Given the description of an element on the screen output the (x, y) to click on. 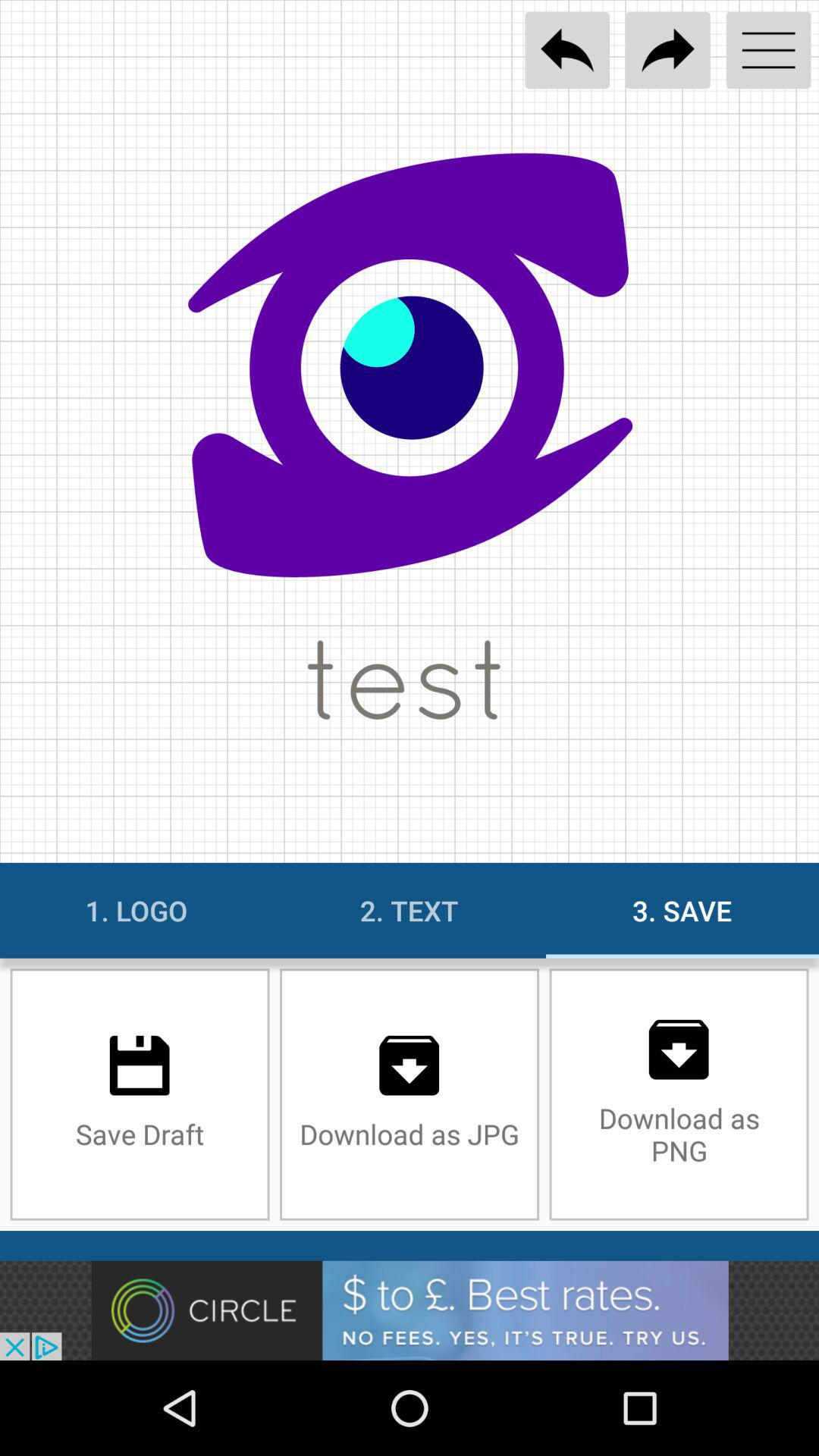
backward (566, 50)
